Given the description of an element on the screen output the (x, y) to click on. 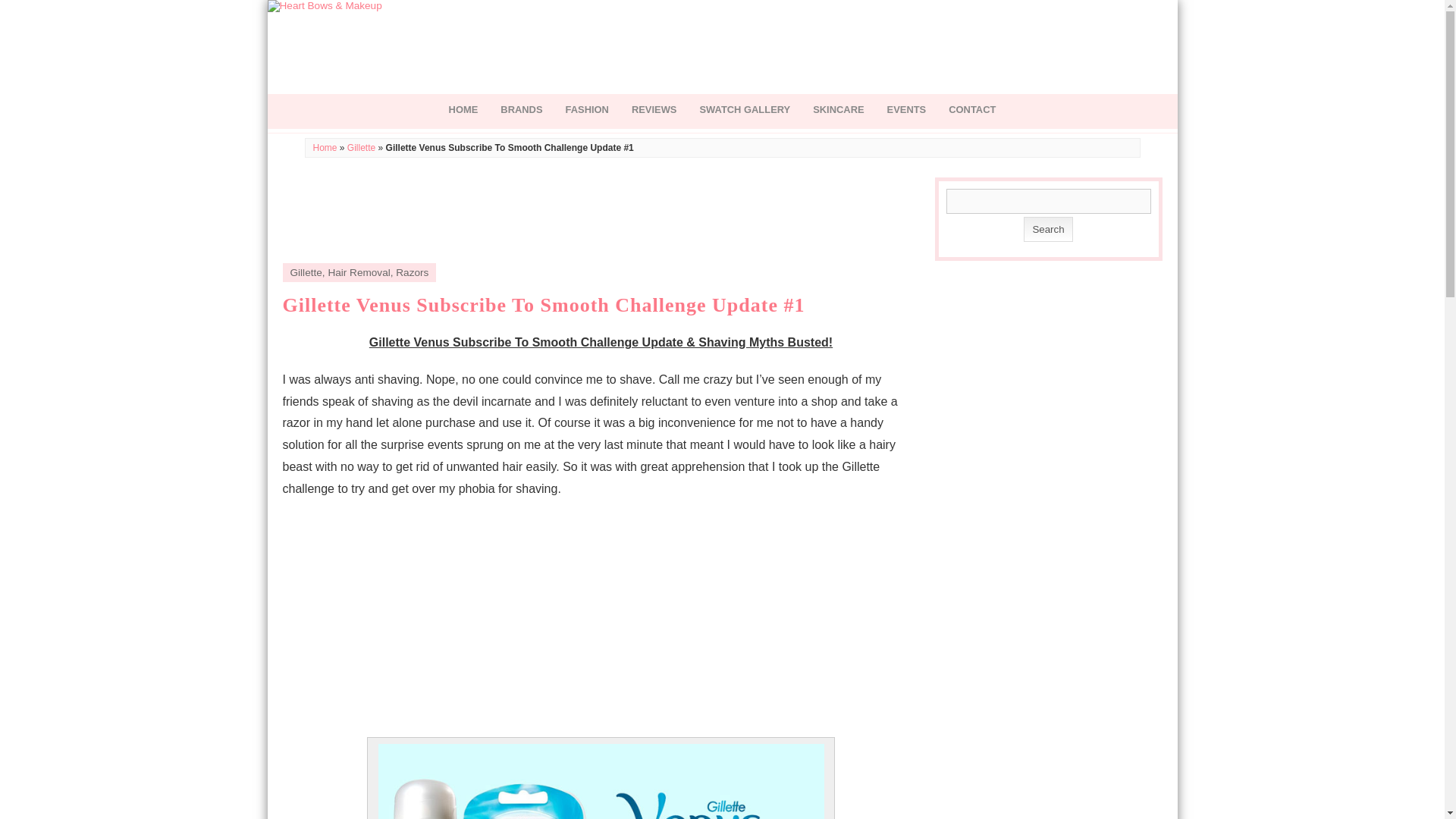
Search (1047, 229)
HOME (463, 110)
BRANDS (521, 110)
Avene (521, 110)
